Given the description of an element on the screen output the (x, y) to click on. 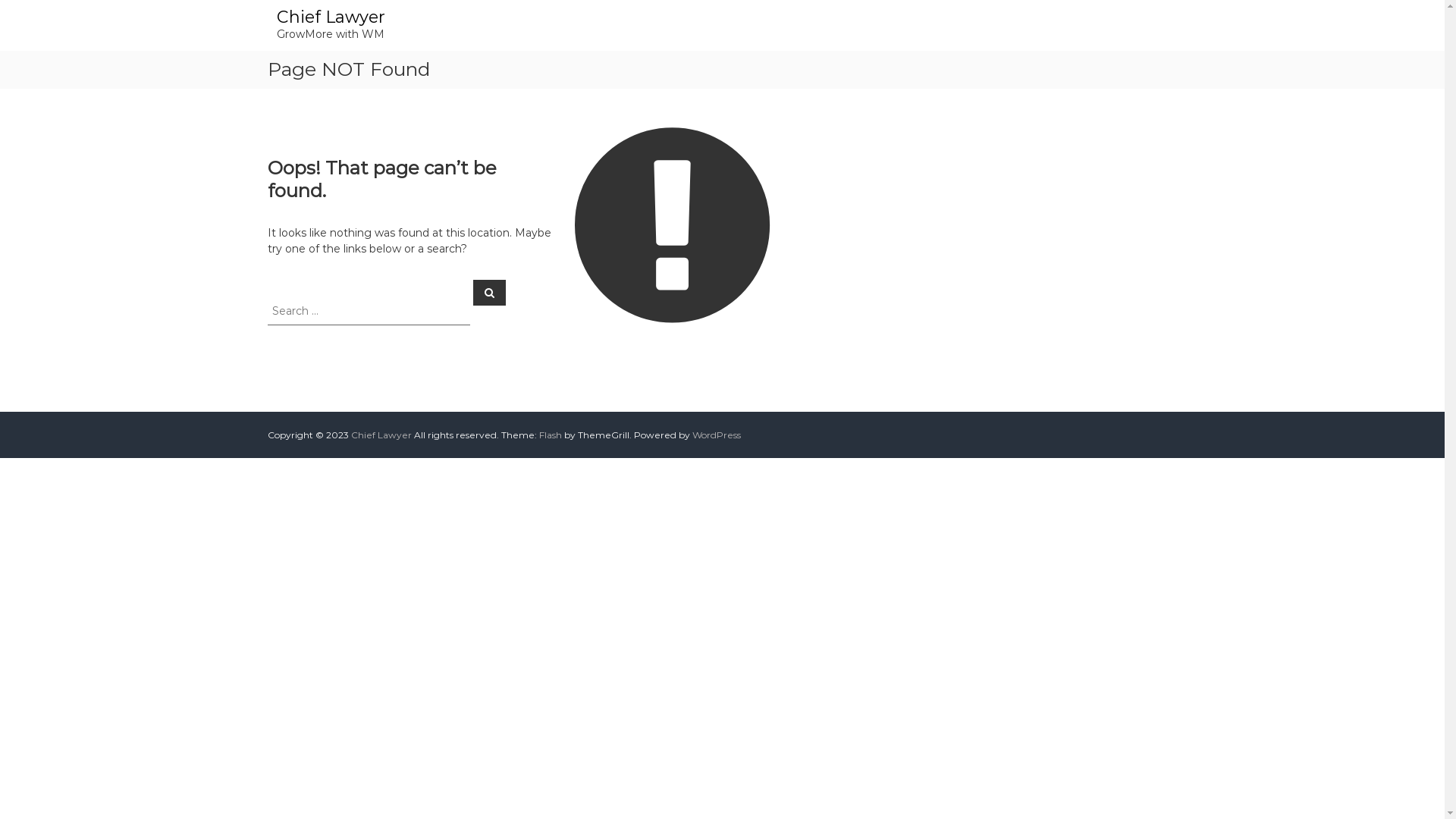
Search Element type: text (489, 291)
Chief Lawyer Element type: text (380, 434)
Chief Lawyer Element type: text (330, 16)
Flash Element type: text (549, 434)
WordPress Element type: text (715, 434)
